Given the description of an element on the screen output the (x, y) to click on. 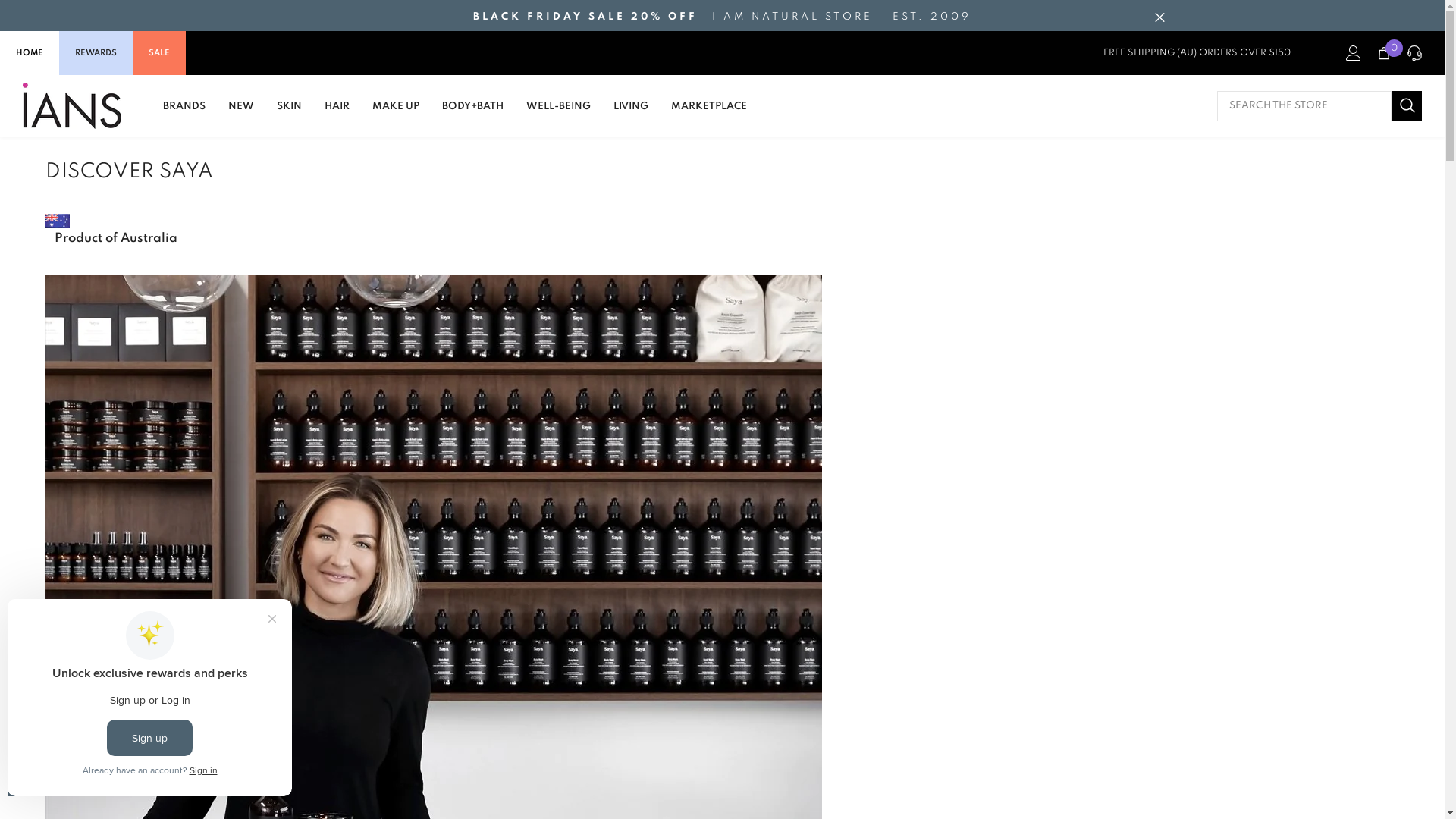
SKIN Element type: text (289, 113)
SALE Element type: text (158, 53)
Close Element type: text (1158, 16)
BODY+BATH Element type: text (472, 113)
Smile.io Rewards Program Launcher Element type: hover (69, 773)
Cart
0
0 items Element type: text (1383, 52)
HOME Element type: text (29, 53)
REWARDS Element type: text (95, 53)
WELL-BEING Element type: text (558, 113)
MARKETPLACE Element type: text (708, 113)
NEW Element type: text (240, 113)
BRANDS Element type: text (183, 113)
HAIR Element type: text (336, 113)
LIVING Element type: text (630, 113)
Log in Element type: text (1353, 52)
MAKE UP Element type: text (395, 113)
Smile.io Rewards Program Prompt Element type: hover (149, 697)
BLACK FRIDAY SALE 20% OFF Element type: text (585, 17)
